Given the description of an element on the screen output the (x, y) to click on. 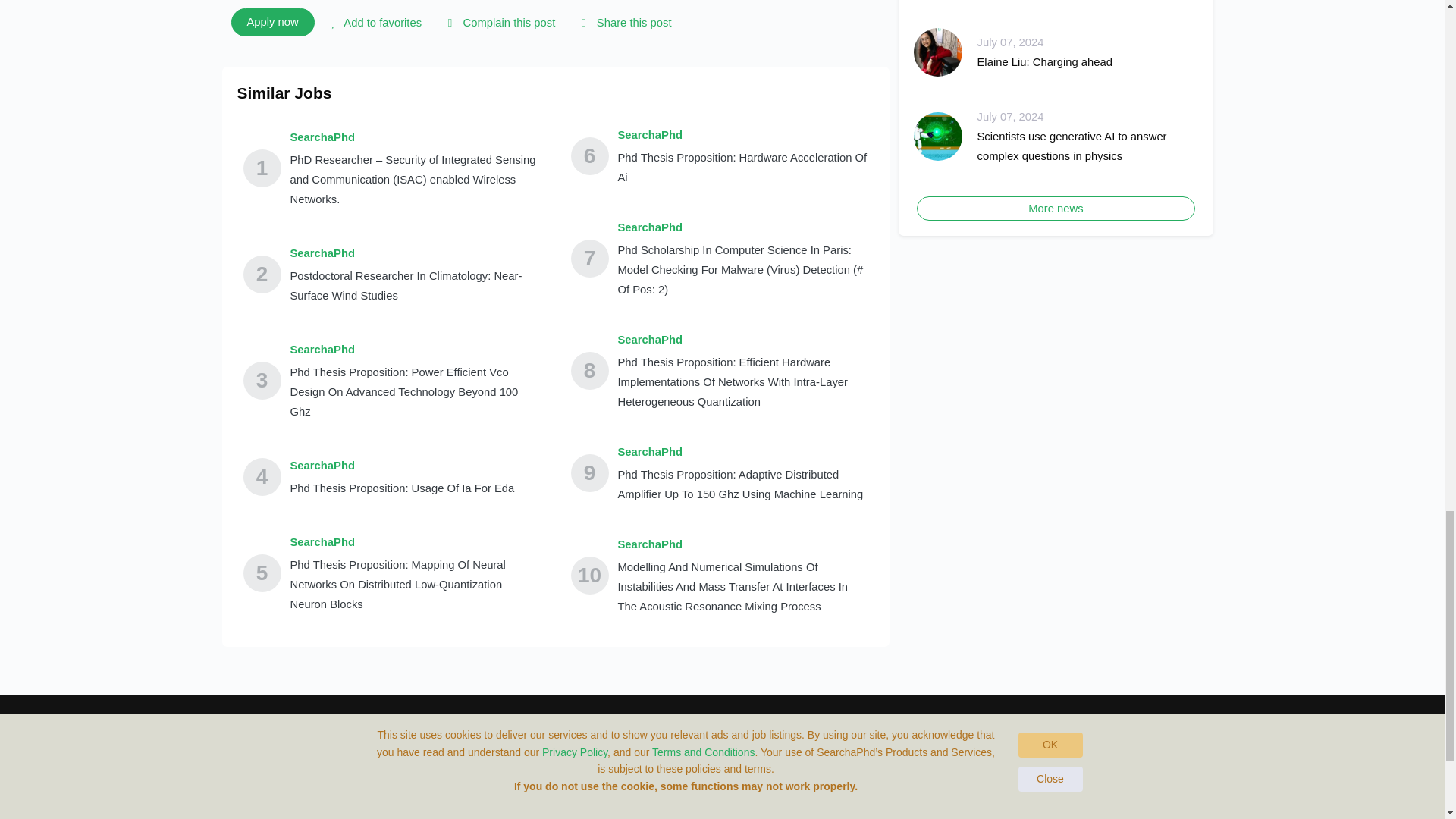
SearchaPhd (401, 465)
SearchaPhd (414, 349)
SearchaPhd (414, 137)
SearchaPhd (742, 227)
Add to favorites (374, 22)
SearchaPhd (742, 134)
SearchaPhd (414, 542)
SearchaPhd (742, 451)
Phd Thesis Proposition: Hardware Acceleration Of Ai (742, 167)
SearchaPhd (742, 339)
Apply now (272, 22)
